Given the description of an element on the screen output the (x, y) to click on. 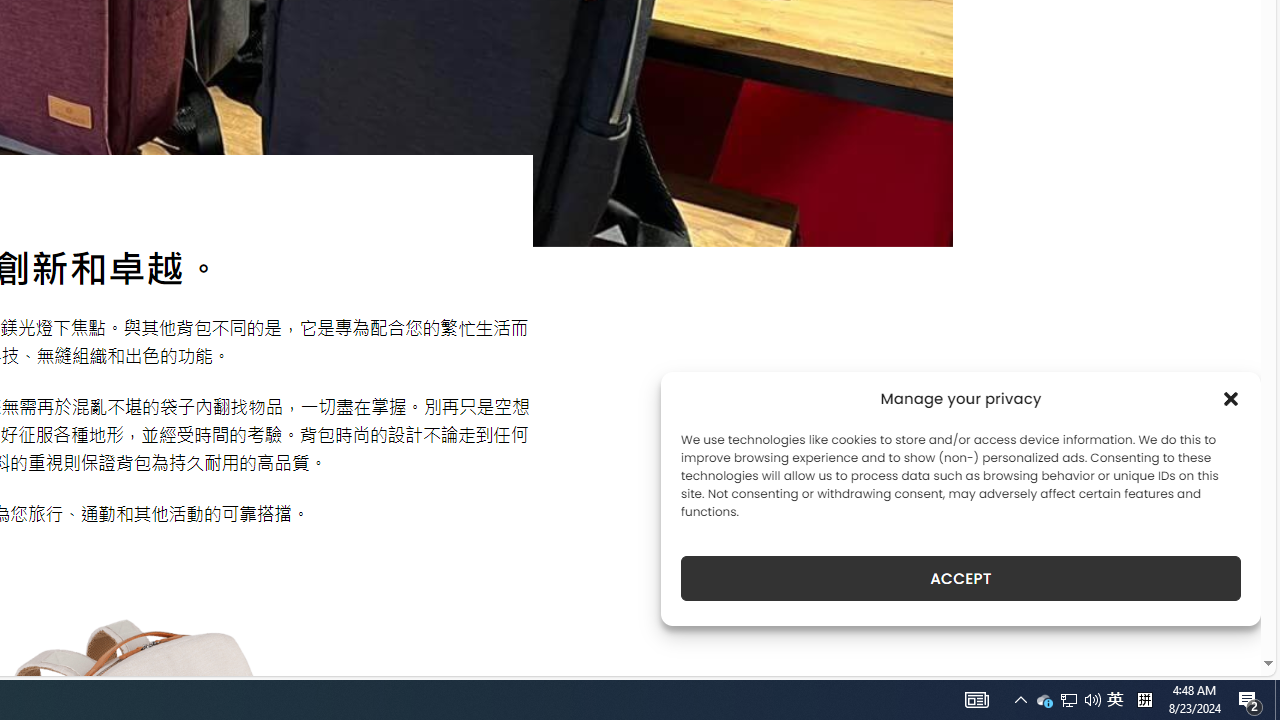
Class: cmplz-close (1231, 398)
ACCEPT (960, 578)
